Given the description of an element on the screen output the (x, y) to click on. 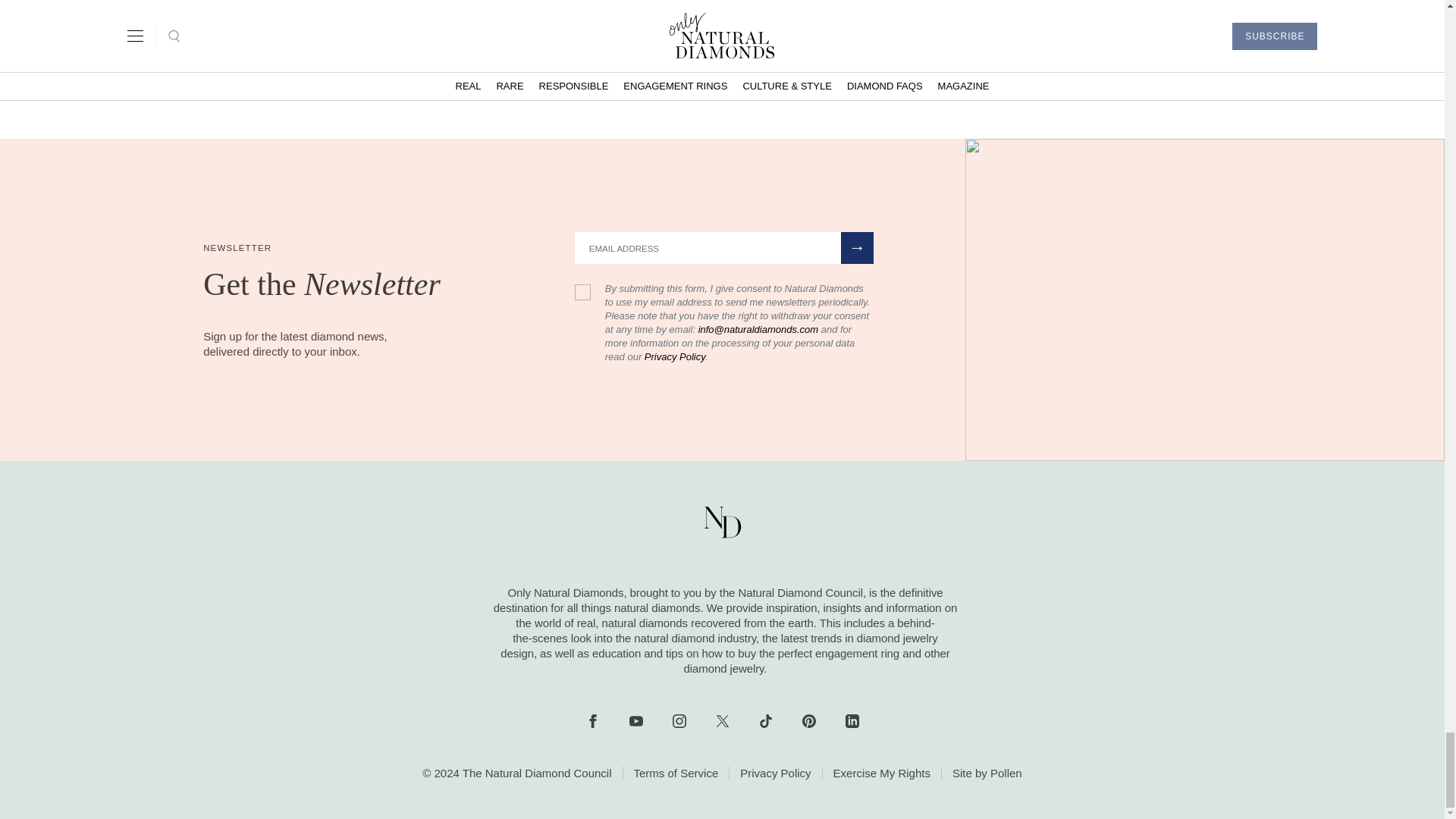
Share on Facebook (644, 72)
Tweet This (696, 72)
Email this page (798, 72)
Clipboard (747, 72)
